Given the description of an element on the screen output the (x, y) to click on. 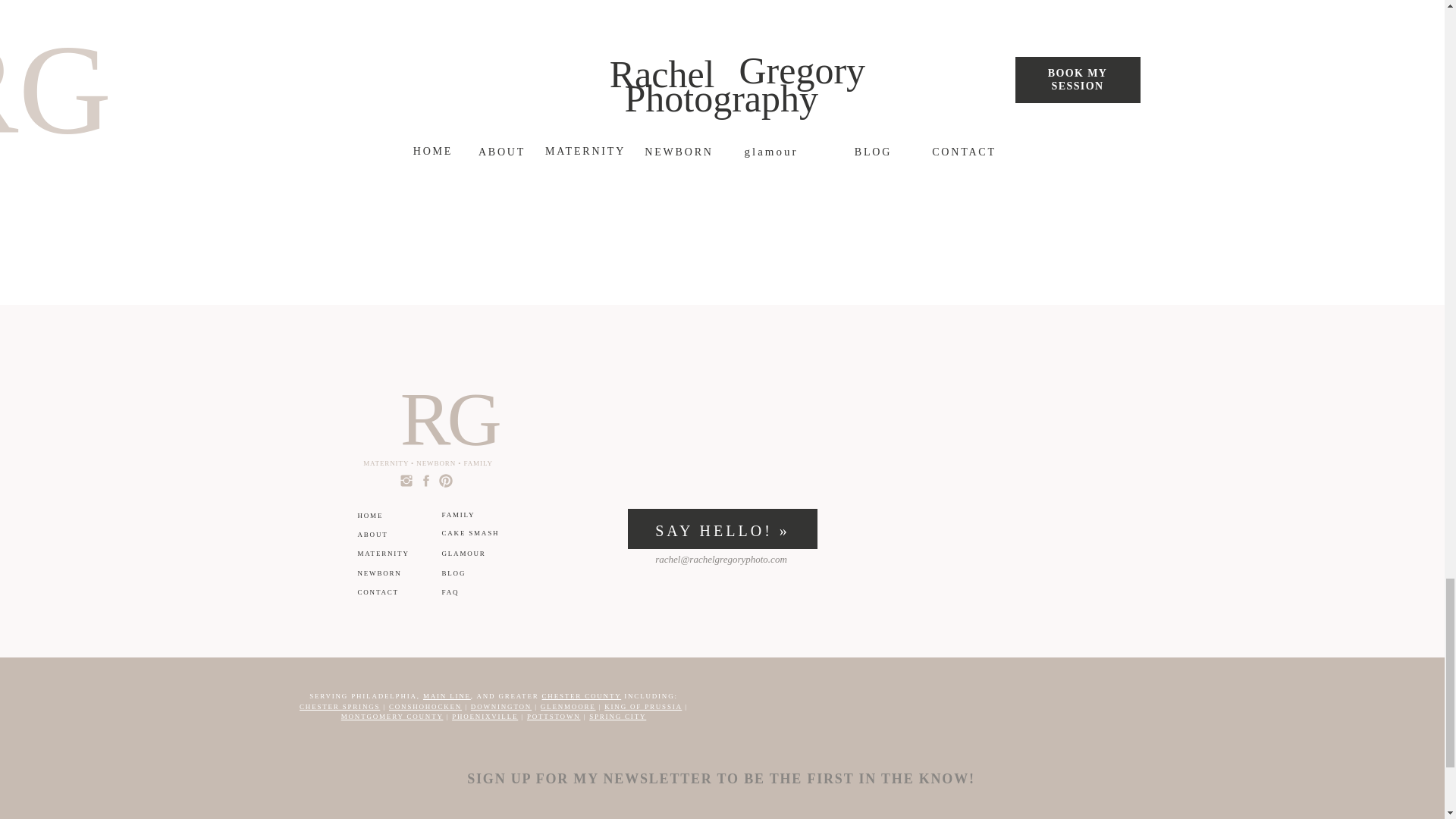
MILESTONE (928, 9)
FAMILY (513, 10)
